Given the description of an element on the screen output the (x, y) to click on. 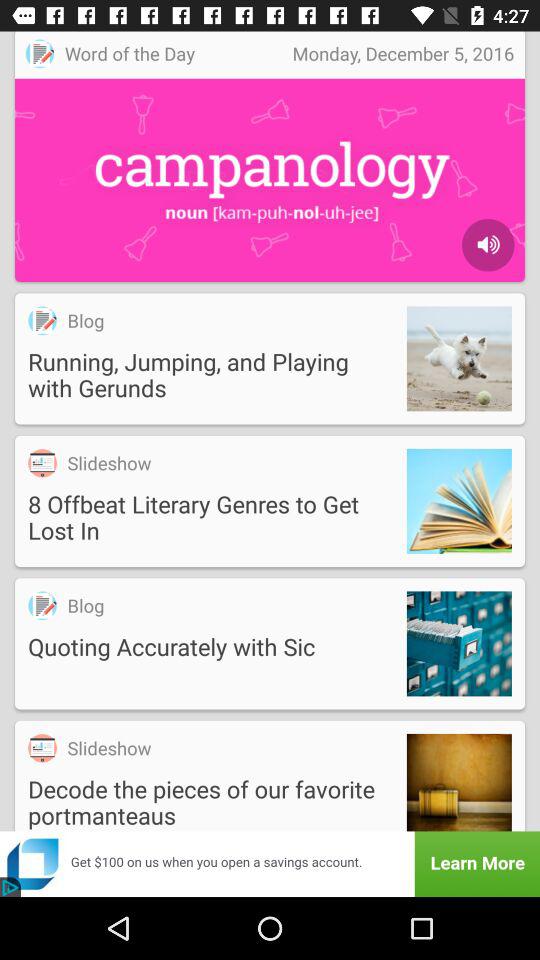
sound option (488, 245)
